Given the description of an element on the screen output the (x, y) to click on. 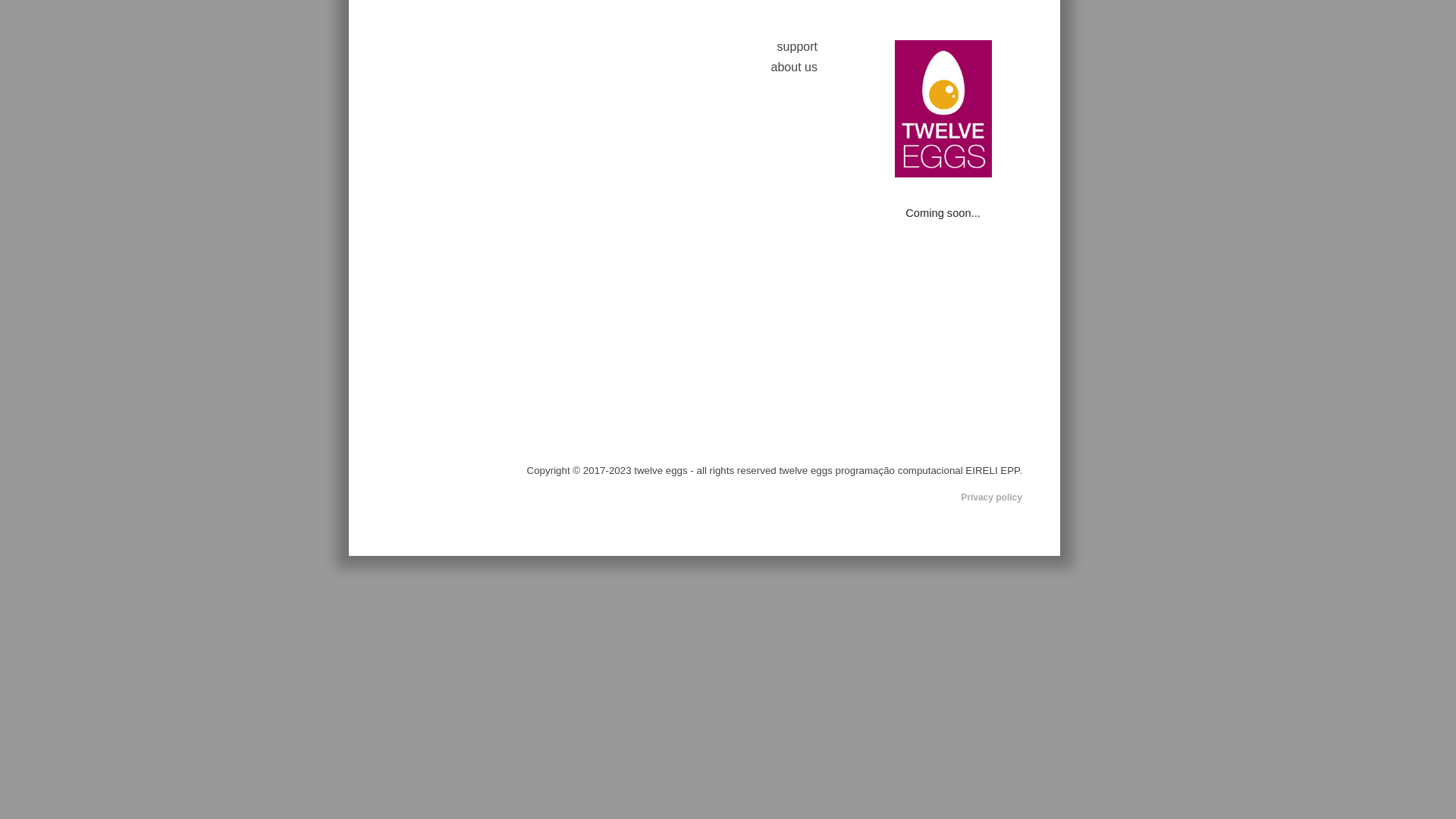
about us Element type: text (794, 66)
support Element type: text (797, 46)
Privacy policy Element type: text (991, 497)
